Given the description of an element on the screen output the (x, y) to click on. 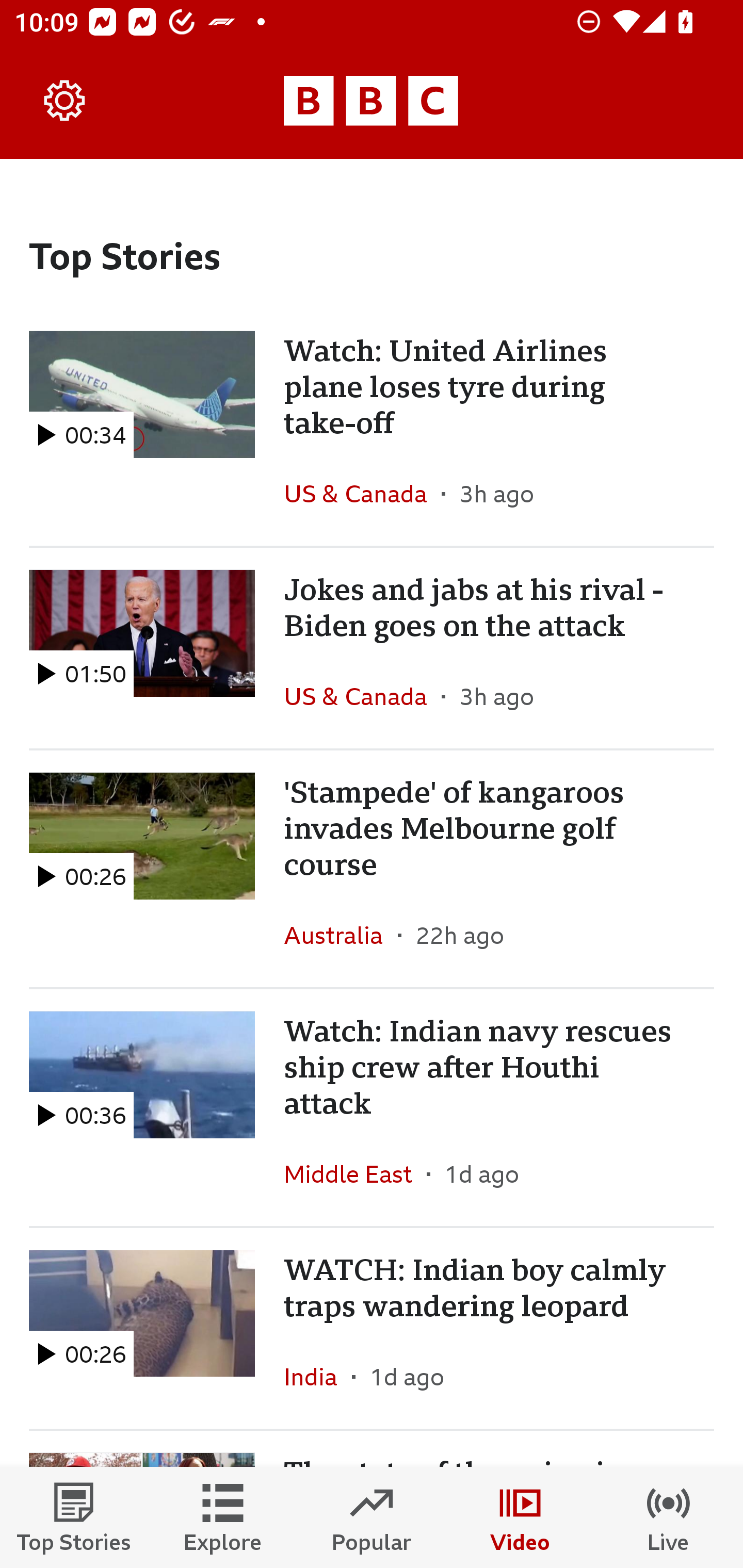
Settings (64, 100)
US & Canada In the section US & Canada (362, 493)
US & Canada In the section US & Canada (362, 695)
Australia In the section Australia (340, 934)
Middle East In the section Middle East (354, 1173)
India In the section India (317, 1376)
Top Stories (74, 1517)
Explore (222, 1517)
Popular (371, 1517)
Live (668, 1517)
